Given the description of an element on the screen output the (x, y) to click on. 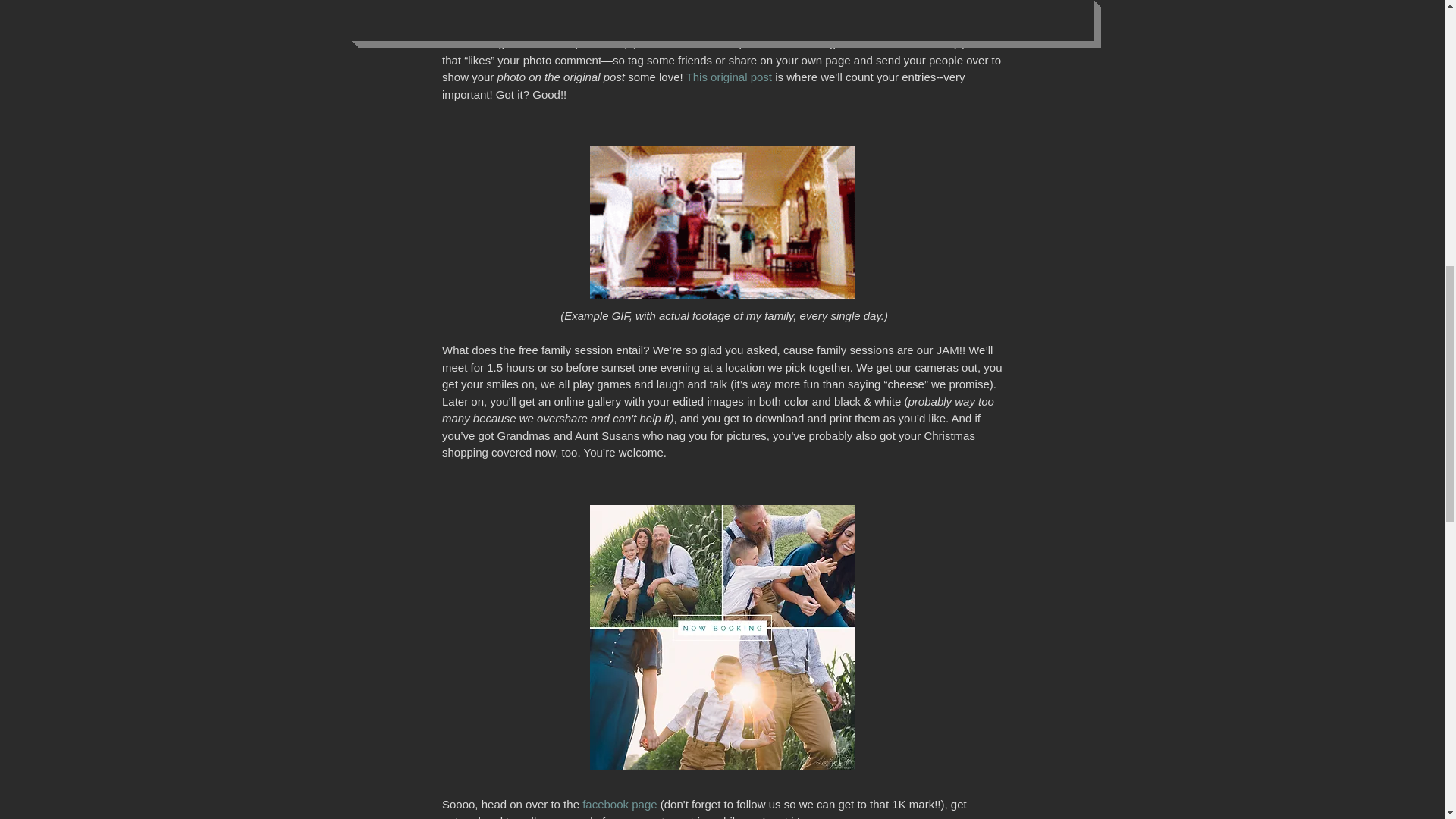
This original post (728, 76)
the giveaway post (814, 25)
facebook page (791, 8)
facebook page (619, 803)
